Given the description of an element on the screen output the (x, y) to click on. 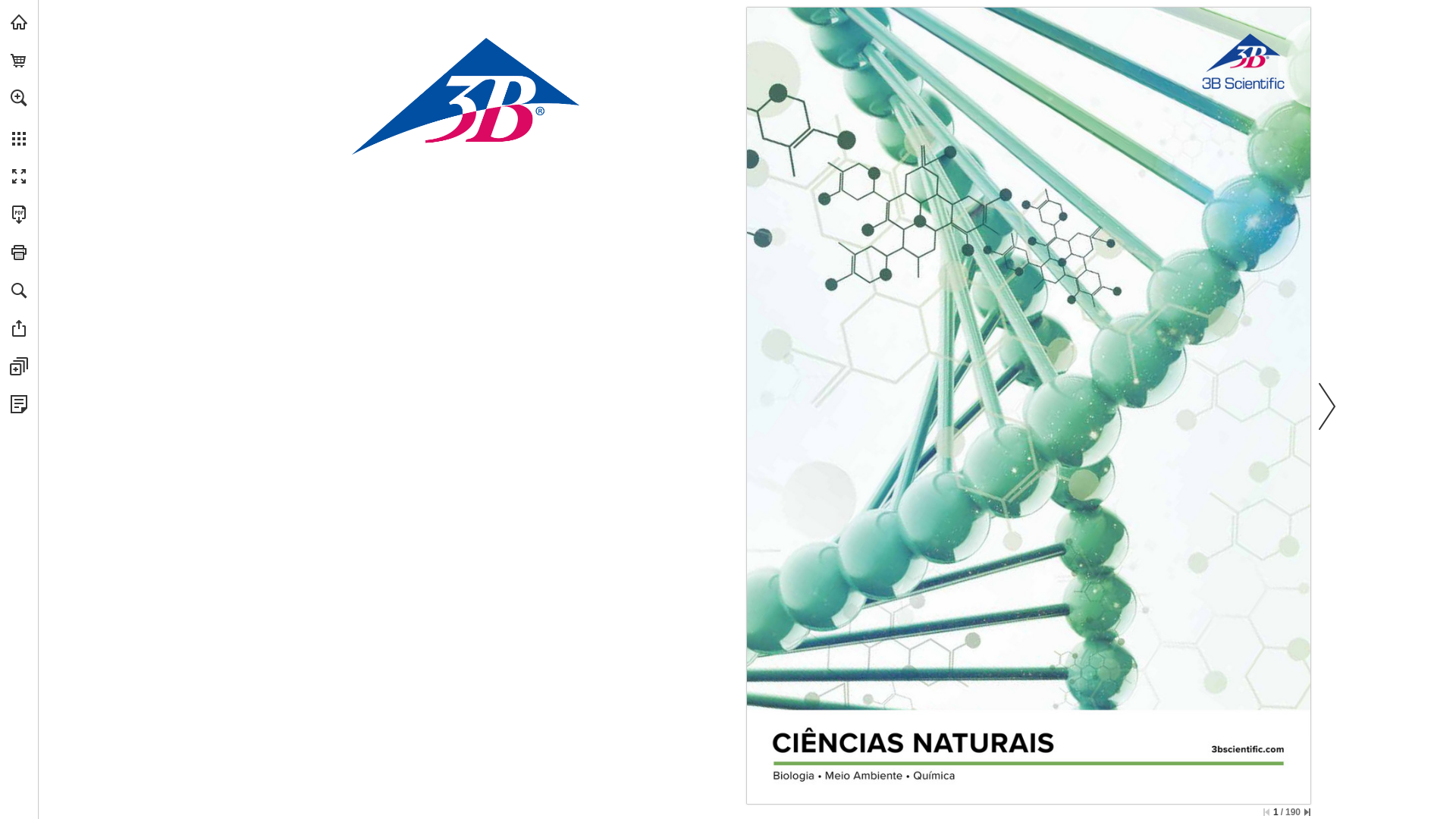
Skip to main content Element type: text (91, 14)
